Given the description of an element on the screen output the (x, y) to click on. 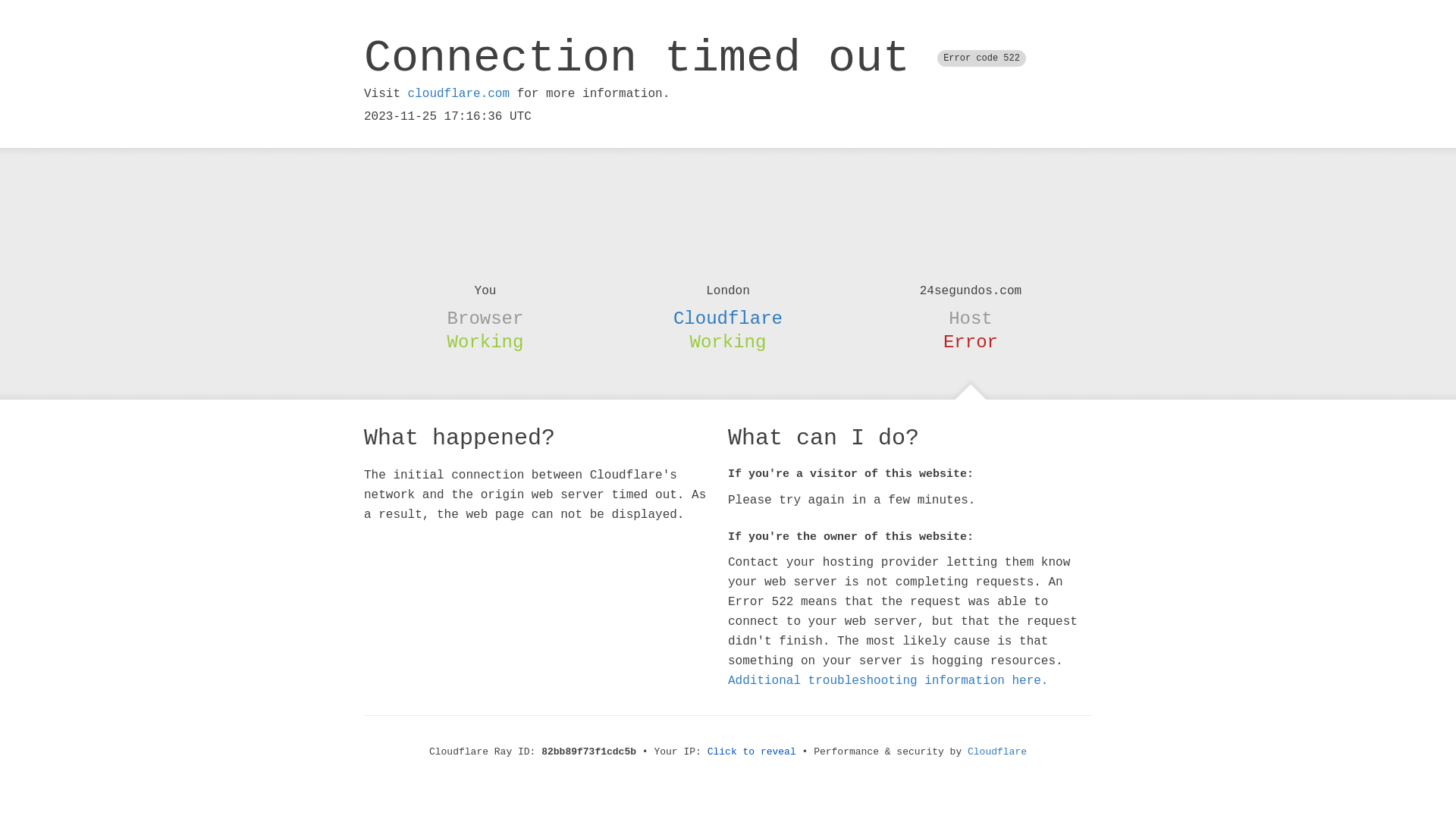
Click to reveal Element type: text (751, 751)
Cloudflare Element type: text (727, 318)
Additional troubleshooting information here. Element type: text (888, 680)
cloudflare.com Element type: text (458, 93)
Cloudflare Element type: text (996, 751)
